Given the description of an element on the screen output the (x, y) to click on. 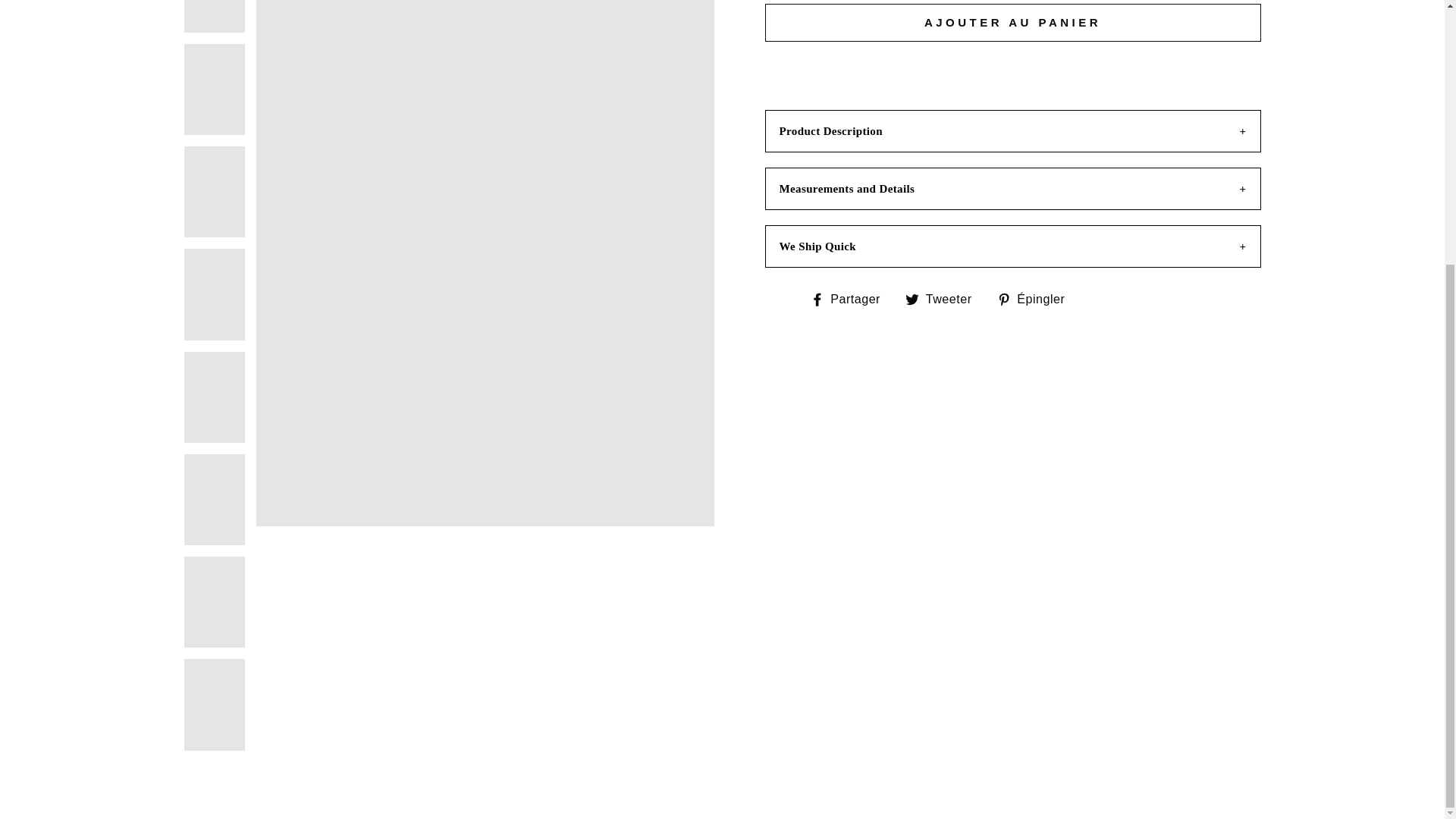
Partager sur Facebook (850, 298)
Tweeter sur Twitter (944, 298)
